Given the description of an element on the screen output the (x, y) to click on. 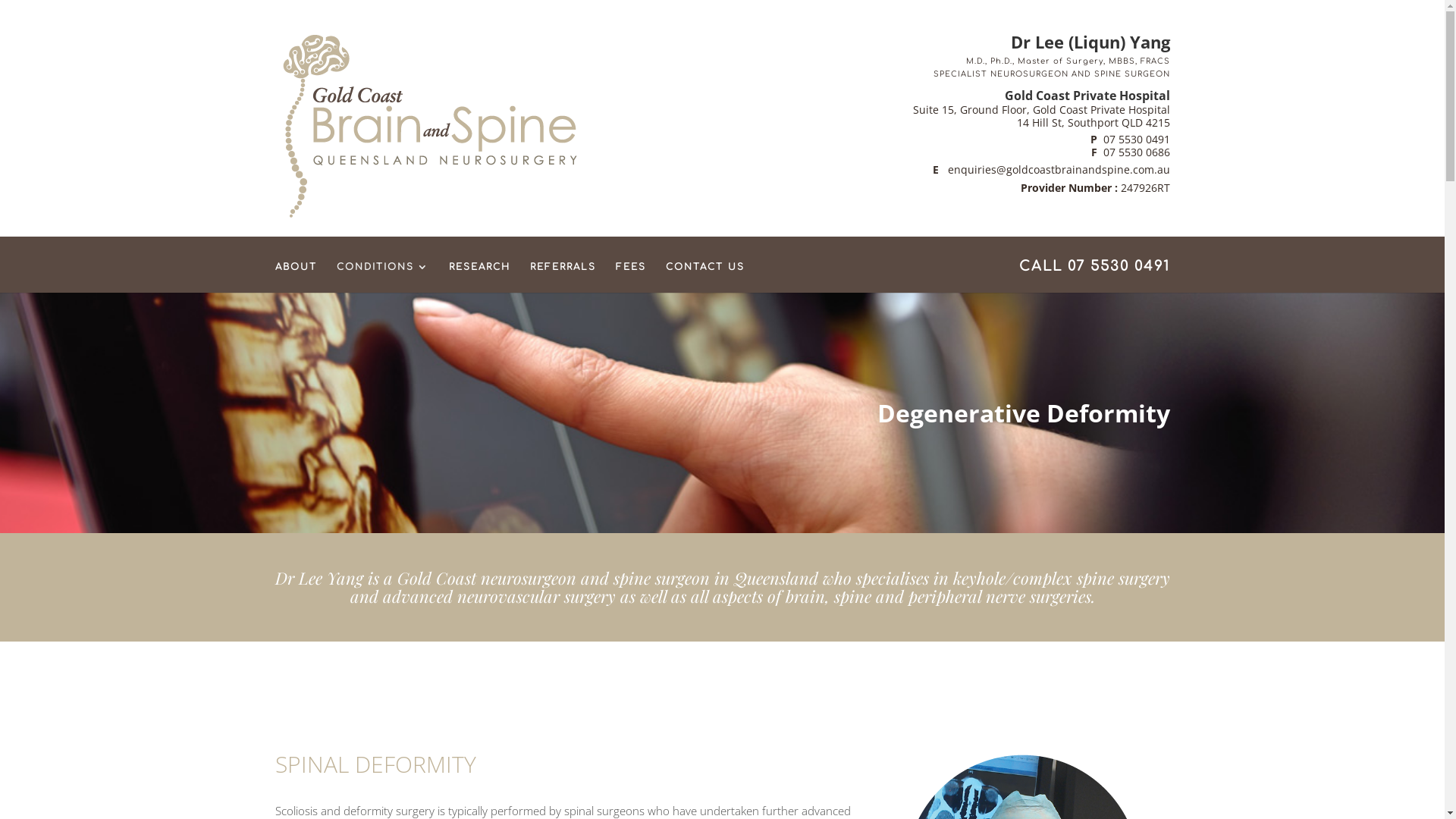
ABOUT Element type: text (295, 277)
07 5530 0491 Element type: text (1135, 138)
CONDITIONS Element type: text (382, 277)
REFERRALS Element type: text (562, 277)
07 5530 0686 Element type: text (1135, 151)
FEES Element type: text (630, 277)
enquiries@goldcoastbrainandspine.com.au Element type: text (1057, 169)
CALL 07 5530 0491 Element type: text (1094, 276)
RESEARCH Element type: text (479, 277)
CONTACT US Element type: text (704, 277)
Search Element type: text (26, 15)
